Given the description of an element on the screen output the (x, y) to click on. 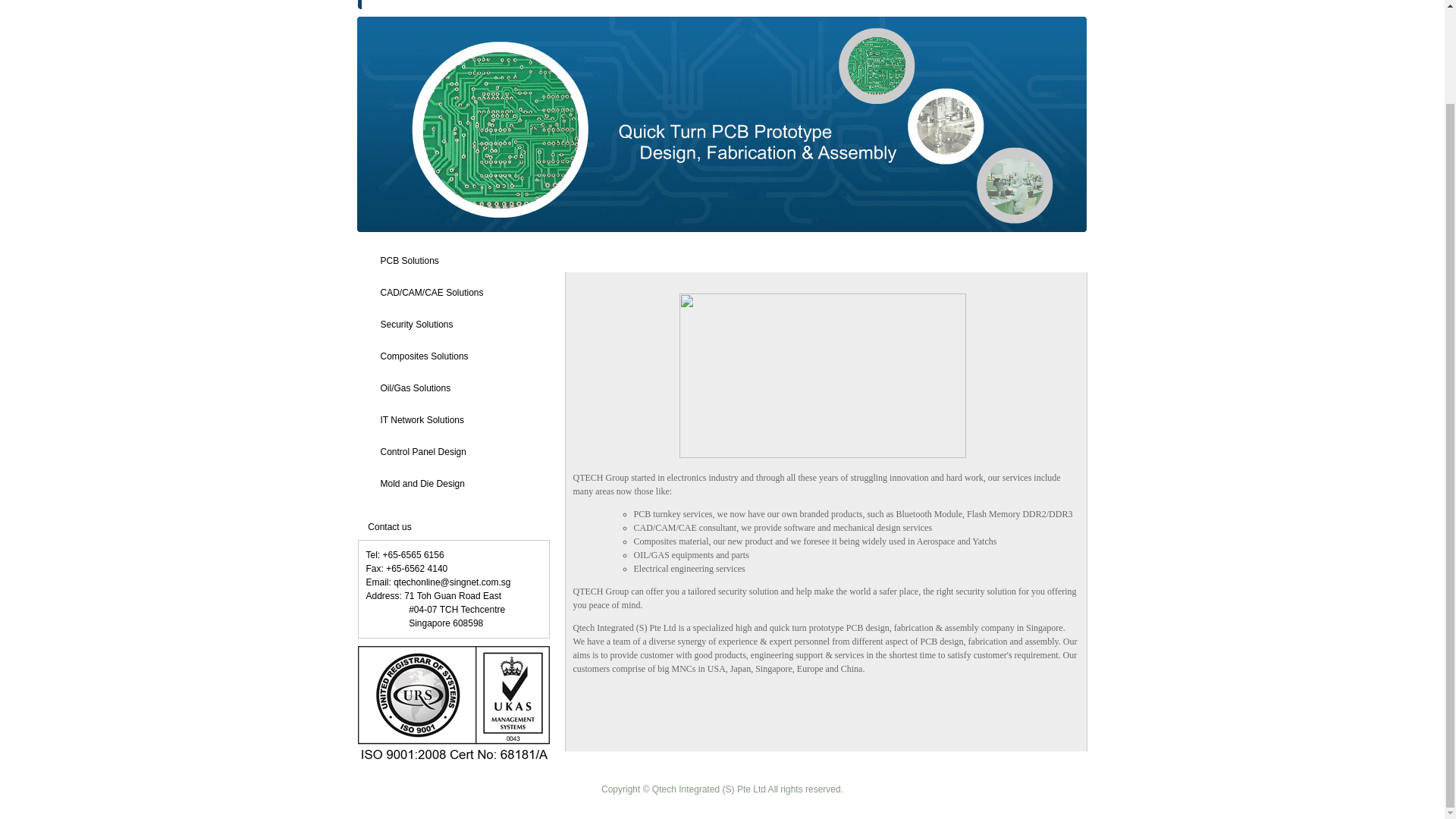
IT Network Solutions (422, 419)
Mold and Die Design (422, 482)
Composites Solutions (424, 355)
PCB Solutions (409, 259)
Control Panel Design (422, 450)
Security Solutions (416, 323)
